Given the description of an element on the screen output the (x, y) to click on. 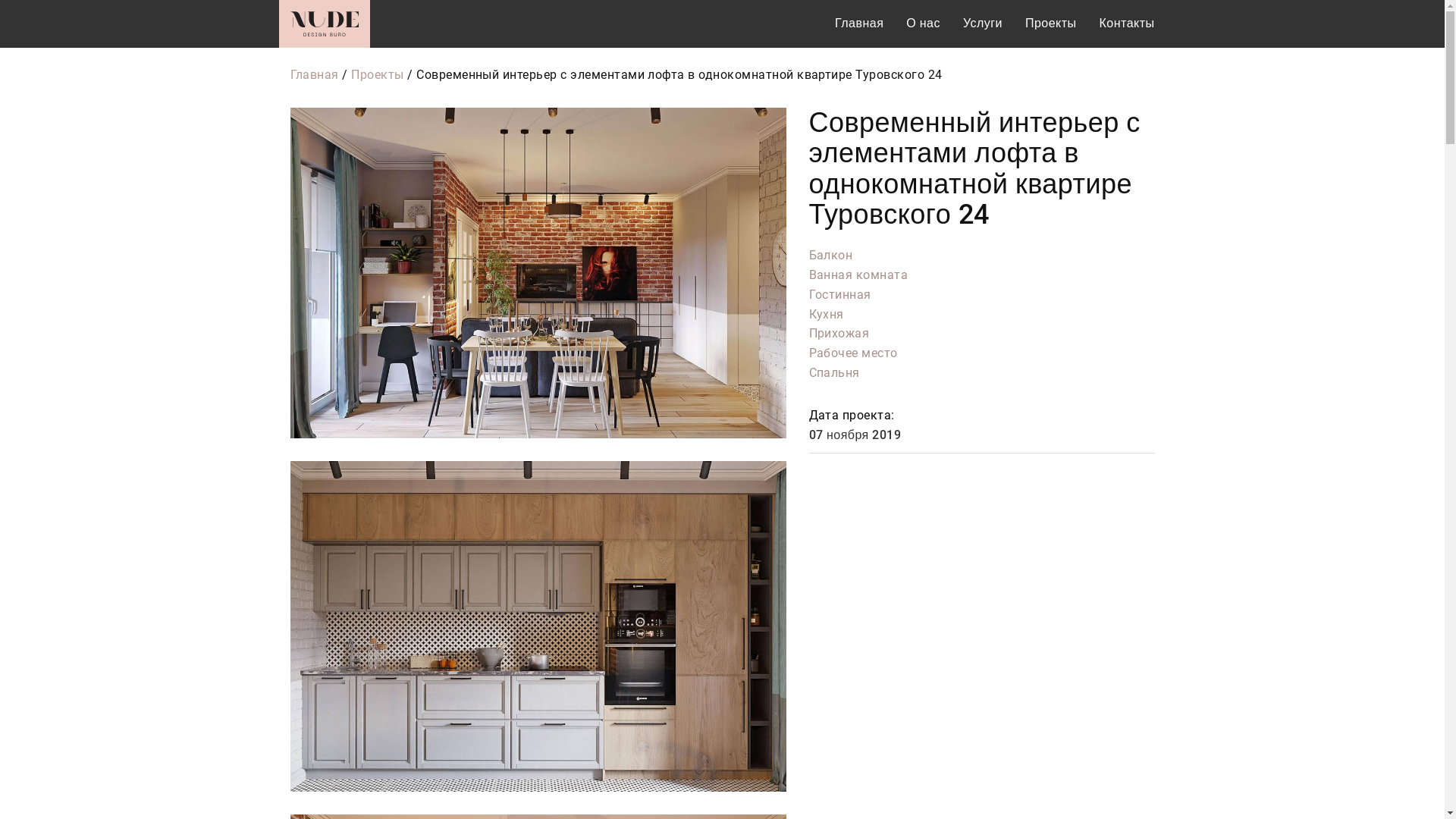
Skip to main navigation Element type: text (0, 0)
